Given the description of an element on the screen output the (x, y) to click on. 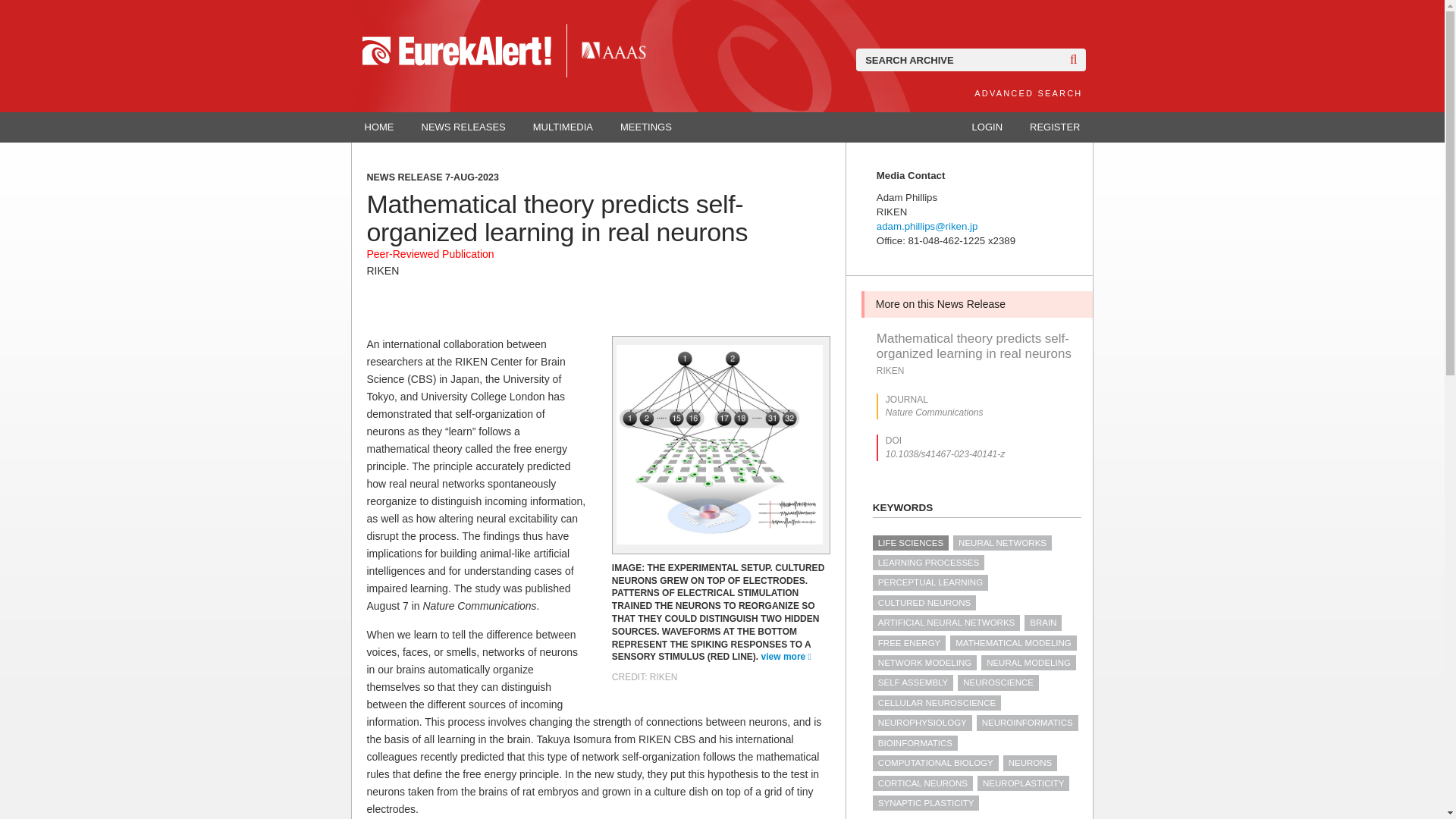
NEURONS (1030, 762)
HOME (378, 127)
LEARNING PROCESSES (928, 562)
MATHEMATICAL MODELING (1013, 642)
COMPUTATIONAL BIOLOGY (935, 762)
MEETINGS (646, 127)
FREE ENERGY (908, 642)
LOGIN (987, 127)
NEUROPHYSIOLOGY (922, 722)
NETWORK MODELING (924, 662)
NEUROPLASTICITY (1022, 783)
MULTIMEDIA (563, 127)
REGISTER (1054, 127)
SELF ASSEMBLY (912, 682)
ADVANCED SEARCH (1027, 92)
